Given the description of an element on the screen output the (x, y) to click on. 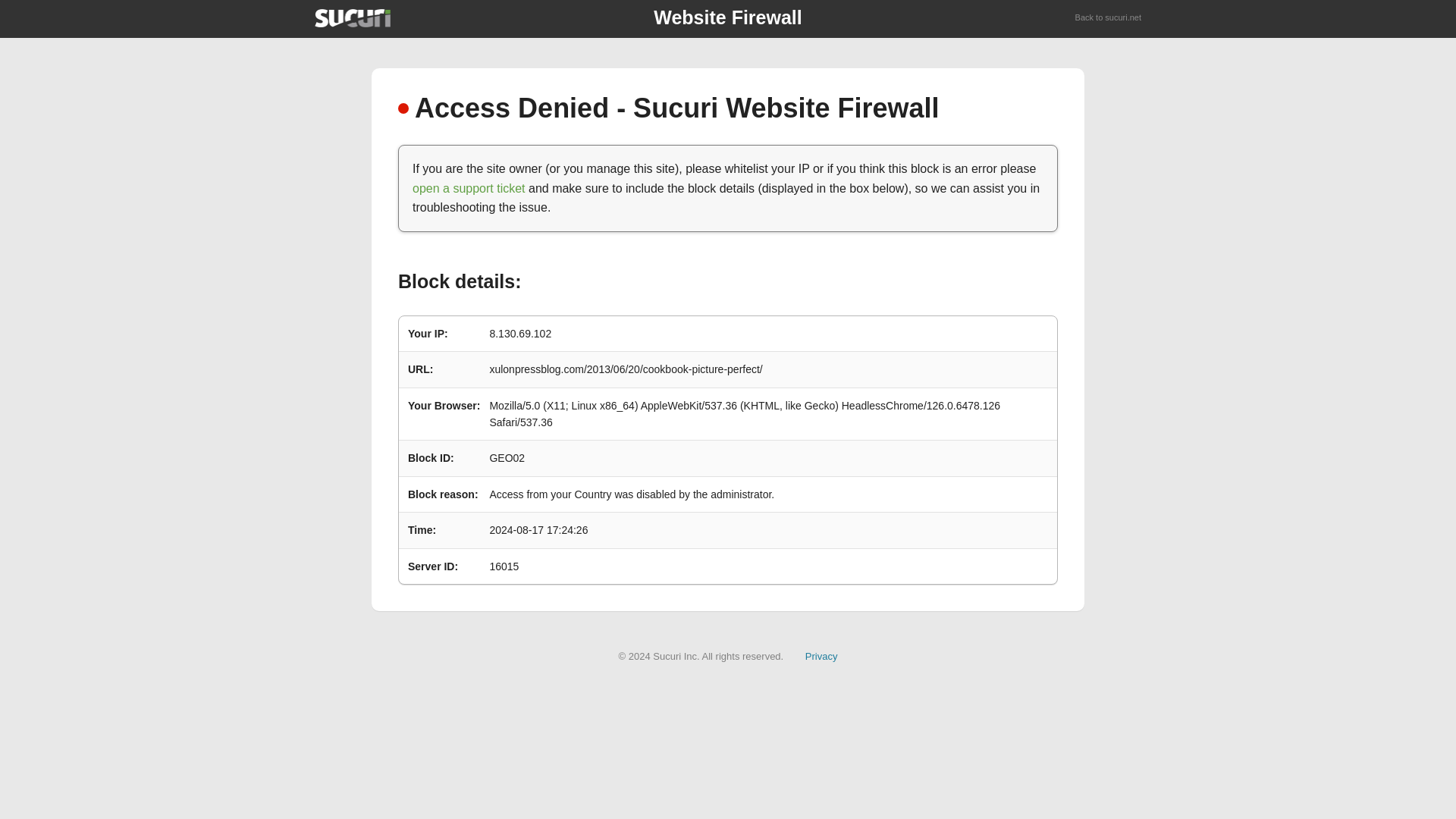
open a support ticket (468, 187)
Back to sucuri.net (1108, 18)
Privacy (821, 655)
